Given the description of an element on the screen output the (x, y) to click on. 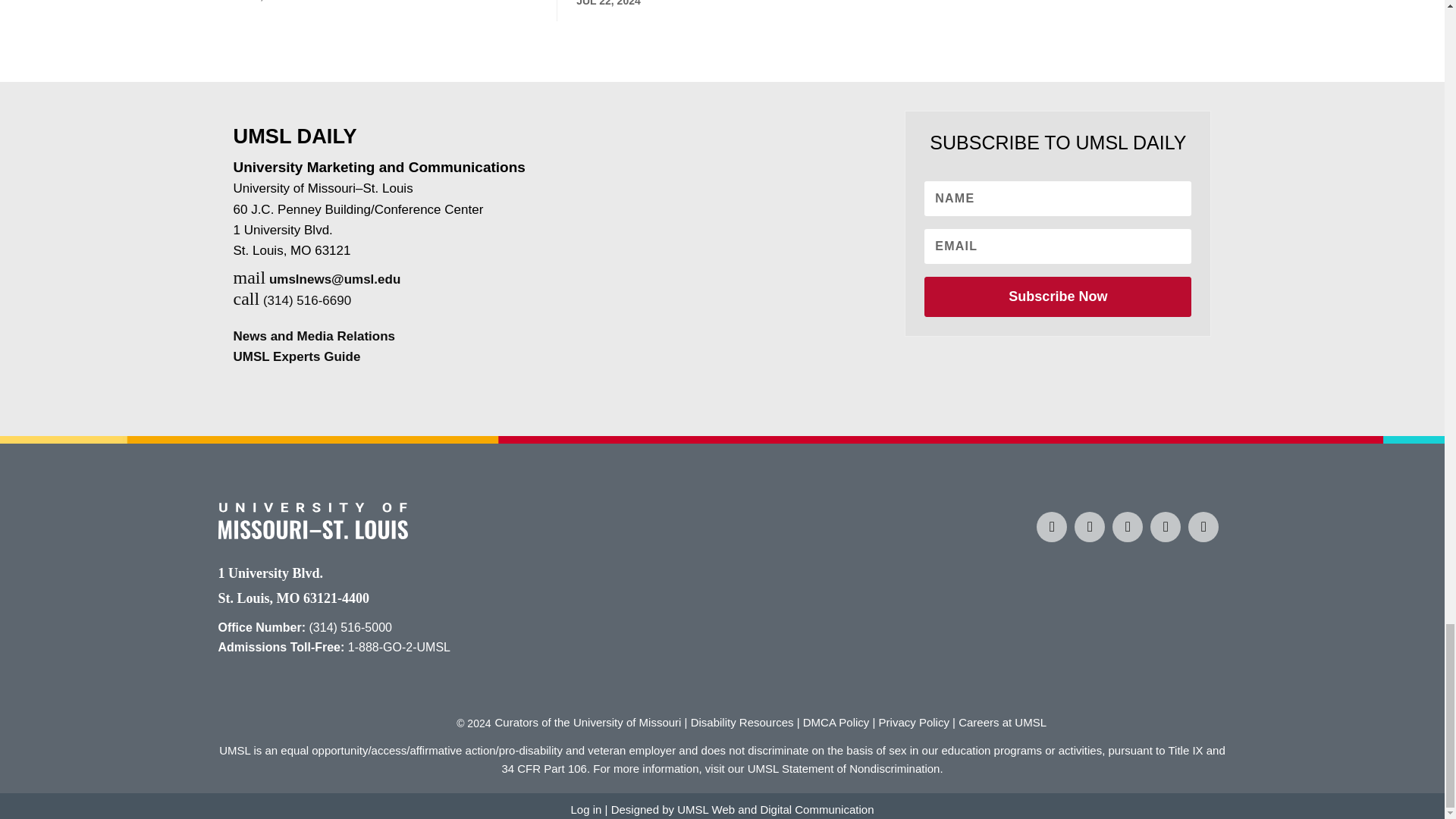
Visit UMSL on LinkedIn (1165, 526)
UMSL Campus Calendar (1203, 526)
Office Telephone Number (349, 626)
UMSL Experts Guide (296, 356)
Admissions Toll-Free Number (398, 646)
Disablity resources (741, 721)
Visit UMSL on Instagram (1089, 526)
Visit UMSL on Facebook (1051, 526)
University of Missouri St. Louis (312, 534)
Visit UMSL on TikTok (1127, 526)
UMSL News and Media Relations (314, 336)
Curators of the University of Missouri (588, 721)
